Given the description of an element on the screen output the (x, y) to click on. 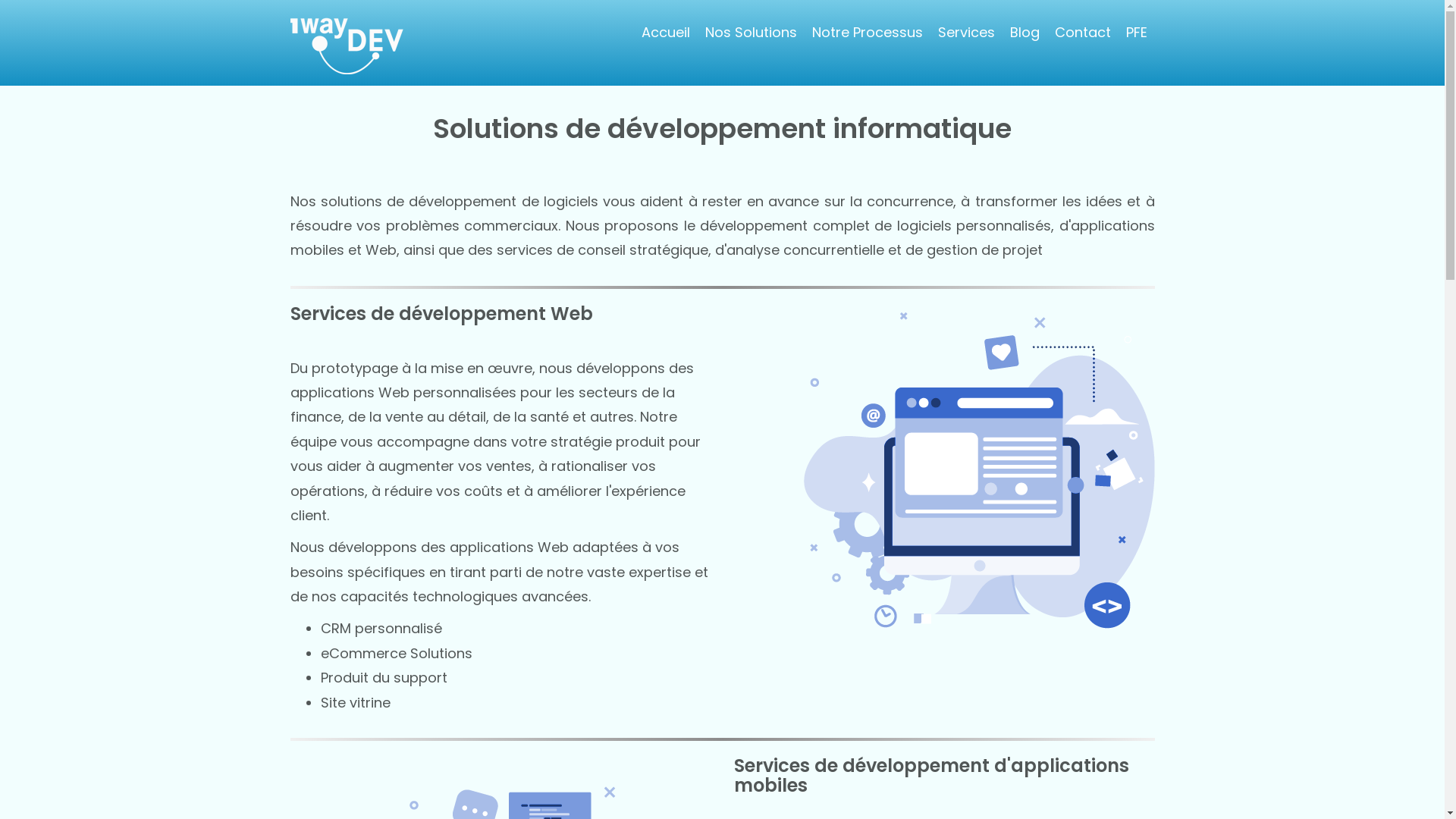
Services Element type: text (965, 31)
Accueil Element type: text (665, 31)
1waydev logo Element type: hover (346, 45)
Nos Solutions Element type: text (750, 31)
Blog Element type: text (1024, 31)
Contact Element type: text (1081, 31)
Notre Processus Element type: text (866, 31)
PFE Element type: text (1135, 31)
Application Web Element type: hover (978, 480)
